Given the description of an element on the screen output the (x, y) to click on. 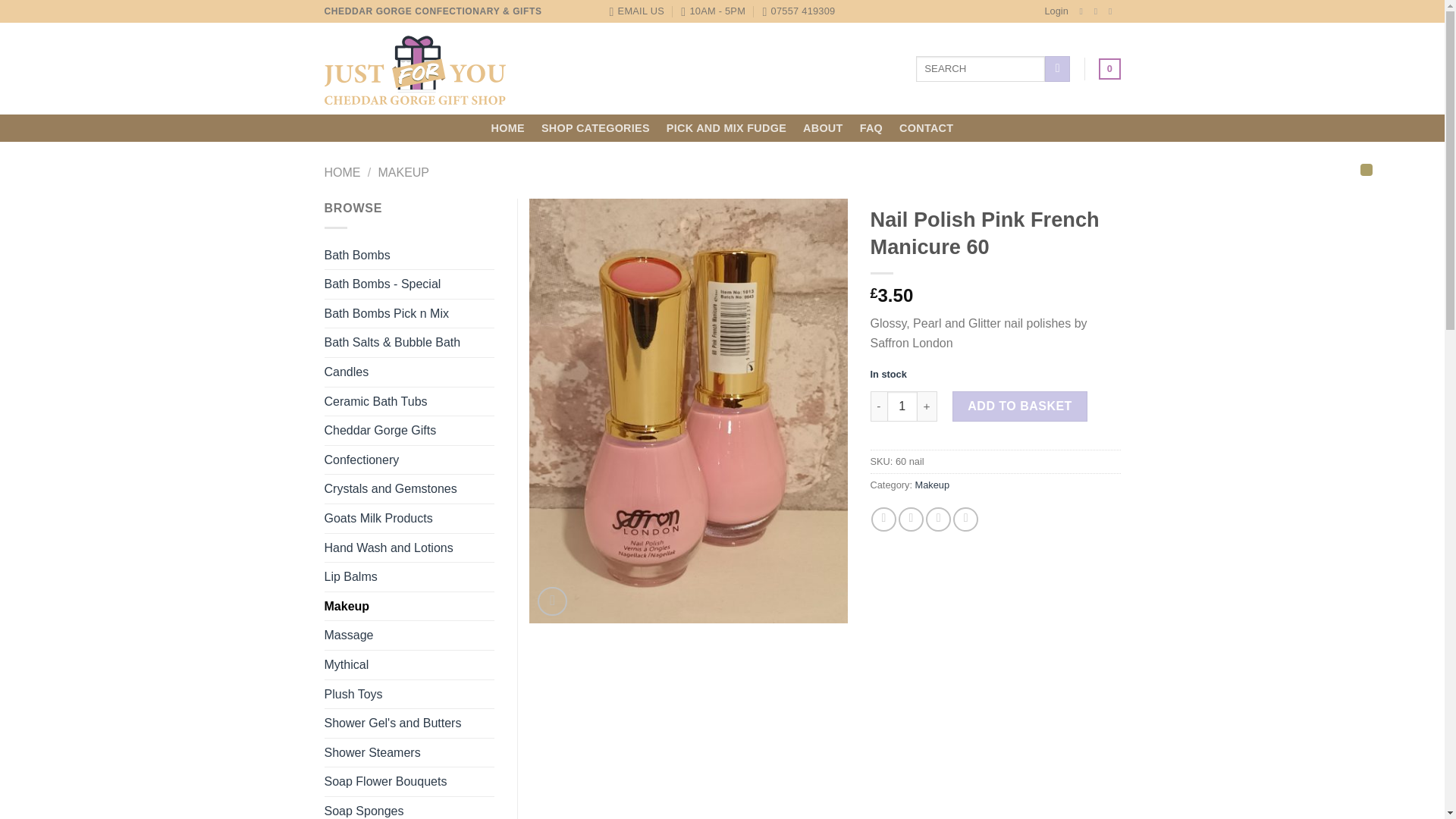
Bath Bombs (409, 255)
Makeup (932, 484)
Bath Bombs Pick n Mix (409, 313)
ABOUT (823, 127)
Bath Bombs - Special (409, 284)
HOME (342, 172)
07557 419309 (797, 11)
MAKEUP (403, 172)
HOME (508, 127)
1 (901, 406)
